Given the description of an element on the screen output the (x, y) to click on. 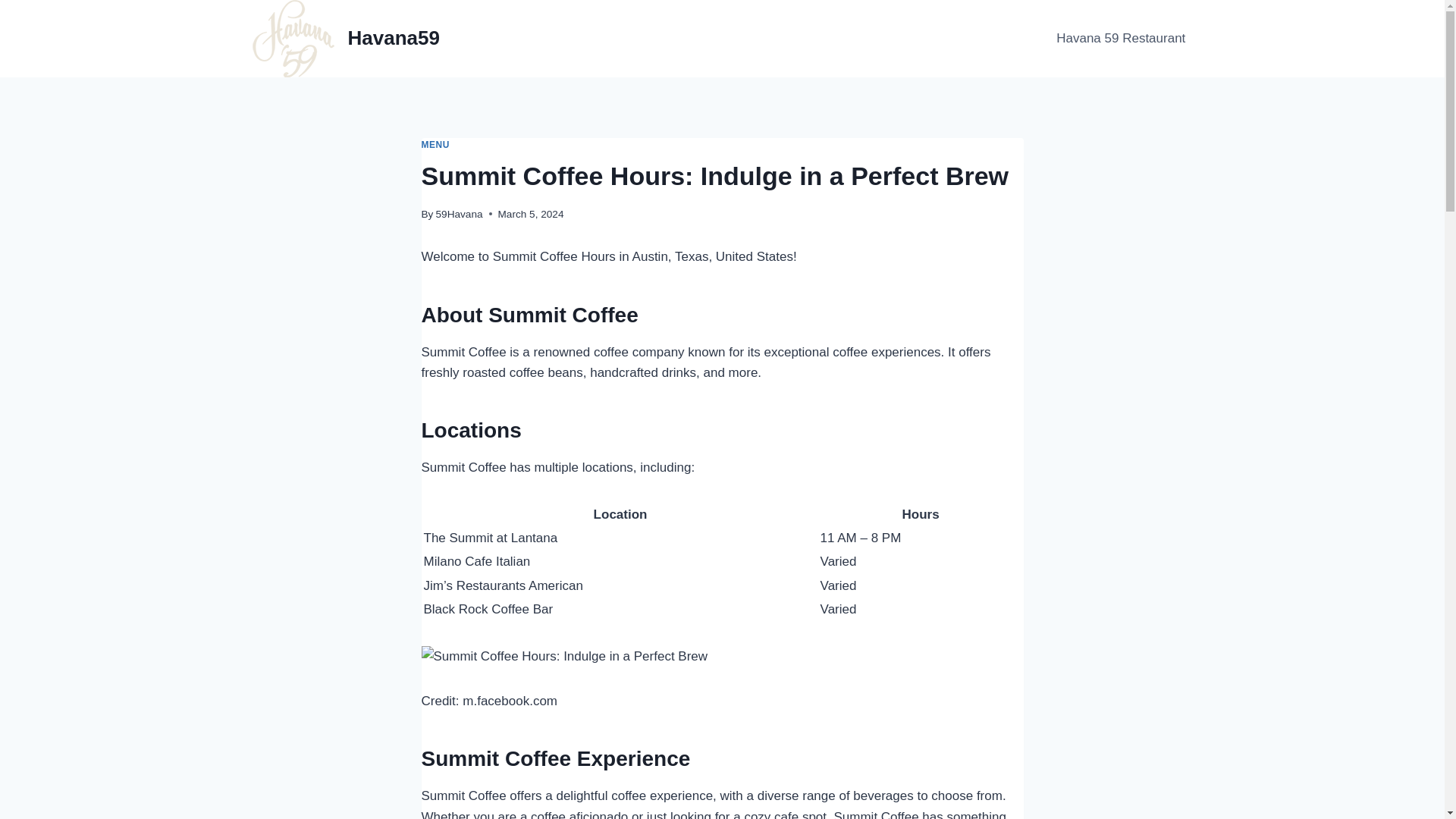
Havana59 (345, 38)
Havana 59 Restaurant (1120, 38)
59Havana (459, 214)
MENU (435, 144)
